Given the description of an element on the screen output the (x, y) to click on. 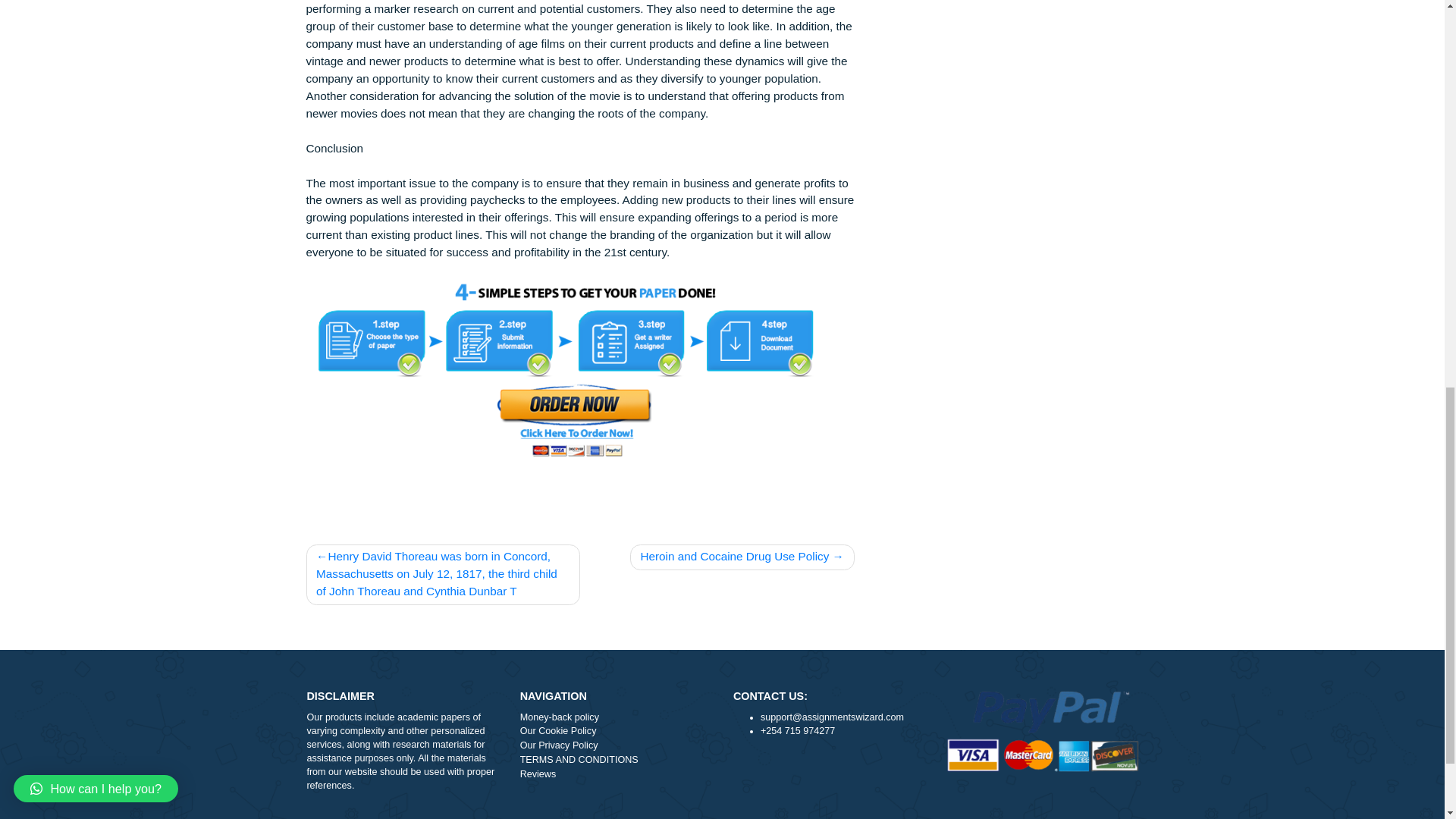
Heroin and Cocaine Drug Use Policy (824, 710)
How can I help you? (106, 57)
